Given the description of an element on the screen output the (x, y) to click on. 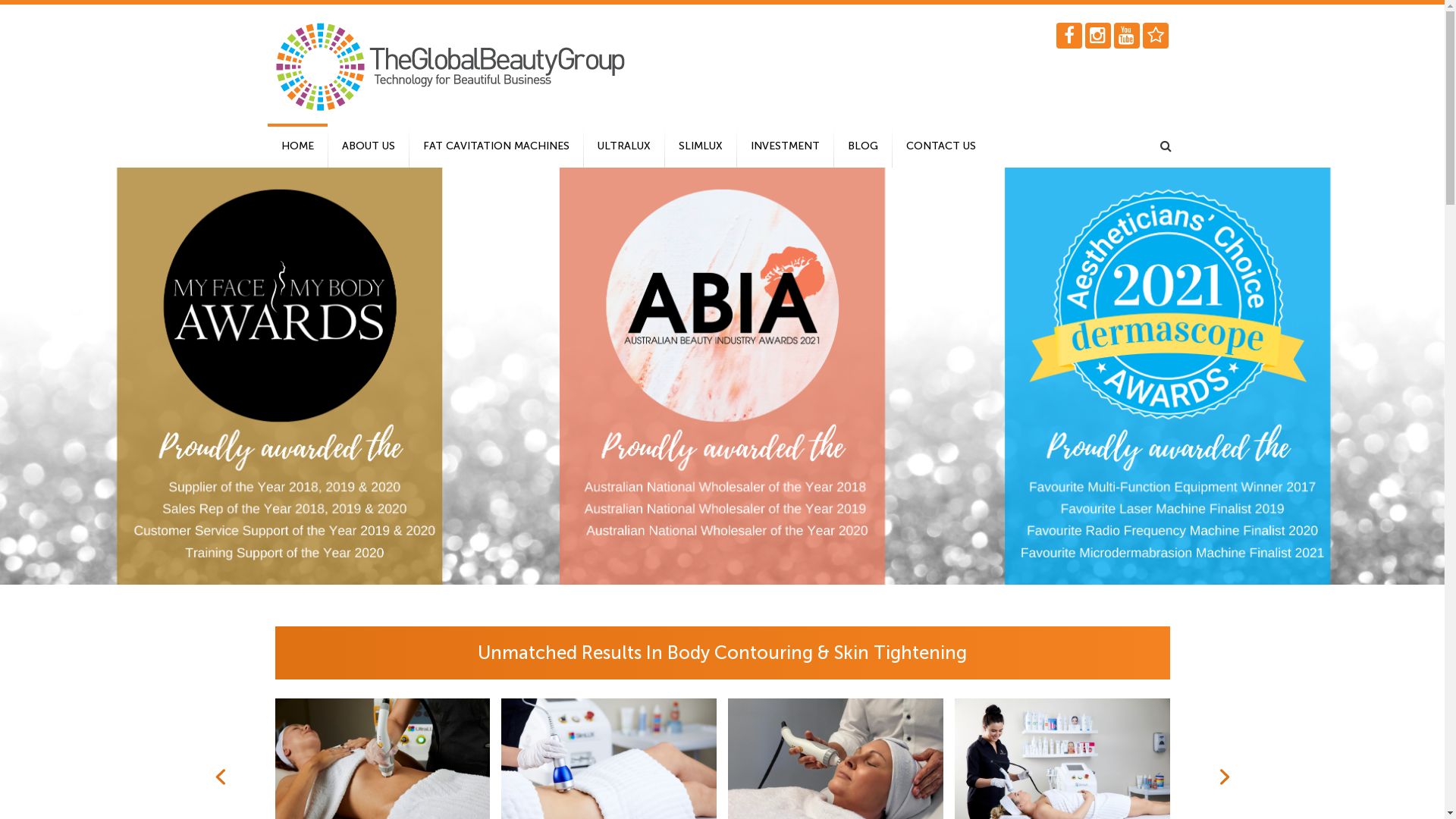
FAT CAVITATION MACHINES Element type: text (496, 145)
ABOUT US Element type: text (367, 145)
Instagram Element type: hover (1097, 35)
HOME Element type: text (296, 145)
SLIMLUX Element type: text (699, 145)
Facebook Element type: hover (1068, 35)
CONTACT US Element type: text (939, 145)
INVESTMENT Element type: text (785, 145)
YouTube Element type: hover (1126, 35)
BLOG Element type: text (862, 145)
ULTRALUX Element type: text (623, 145)
